Given the description of an element on the screen output the (x, y) to click on. 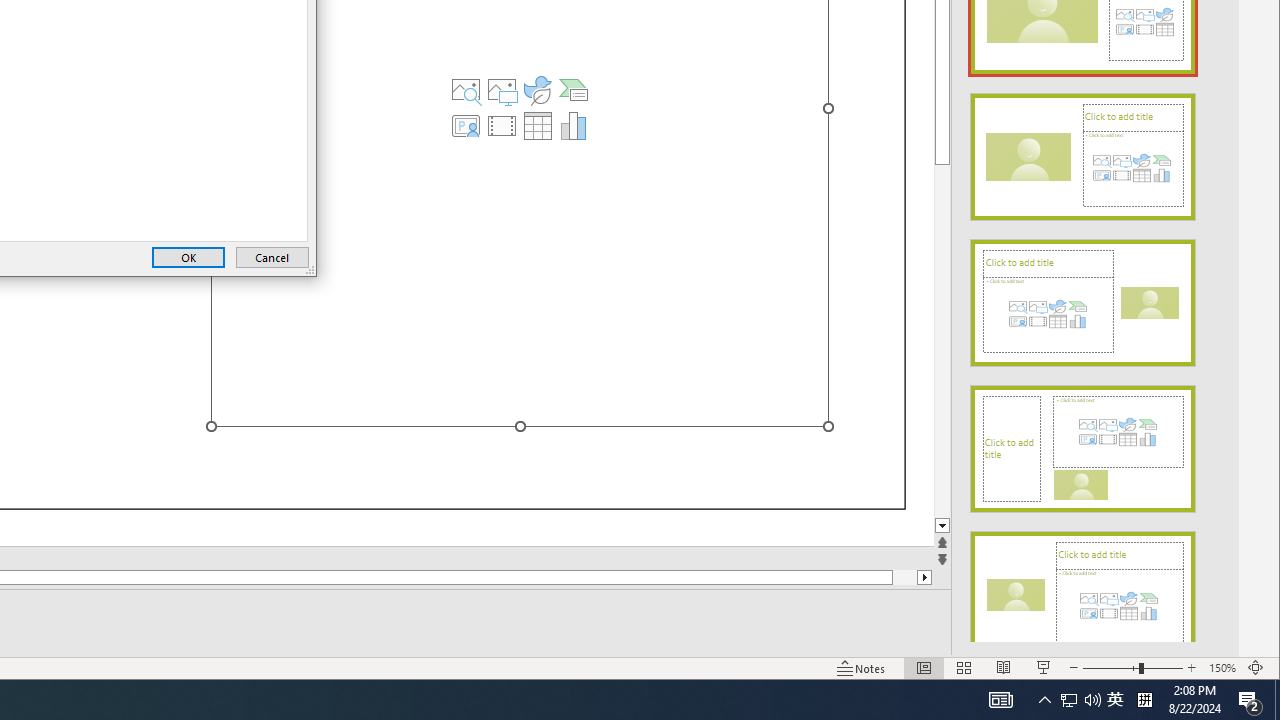
Q2790: 100% (1092, 699)
Insert Table (538, 125)
Design Idea (1082, 588)
AutomationID: 4105 (1000, 699)
Insert Video (502, 125)
Action Center, 2 new notifications (1250, 699)
Insert an Icon (538, 89)
Stock Images (466, 89)
Pictures (502, 89)
Cancel (1115, 699)
